Given the description of an element on the screen output the (x, y) to click on. 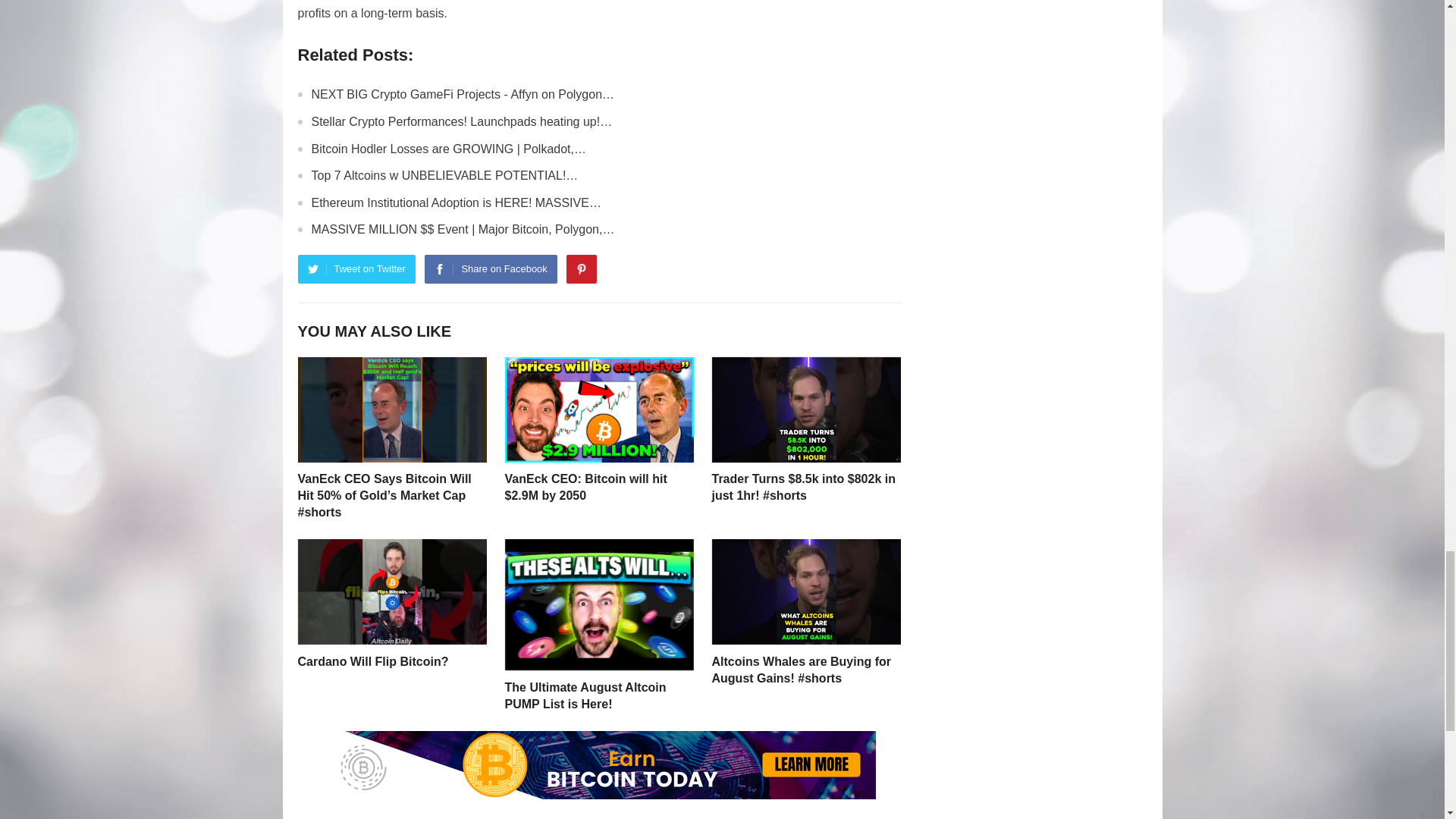
The Ultimate August Altcoin PUMP List is Here! 10 (599, 604)
Cardano Will Flip Bitcoin? 8 (391, 591)
